Given the description of an element on the screen output the (x, y) to click on. 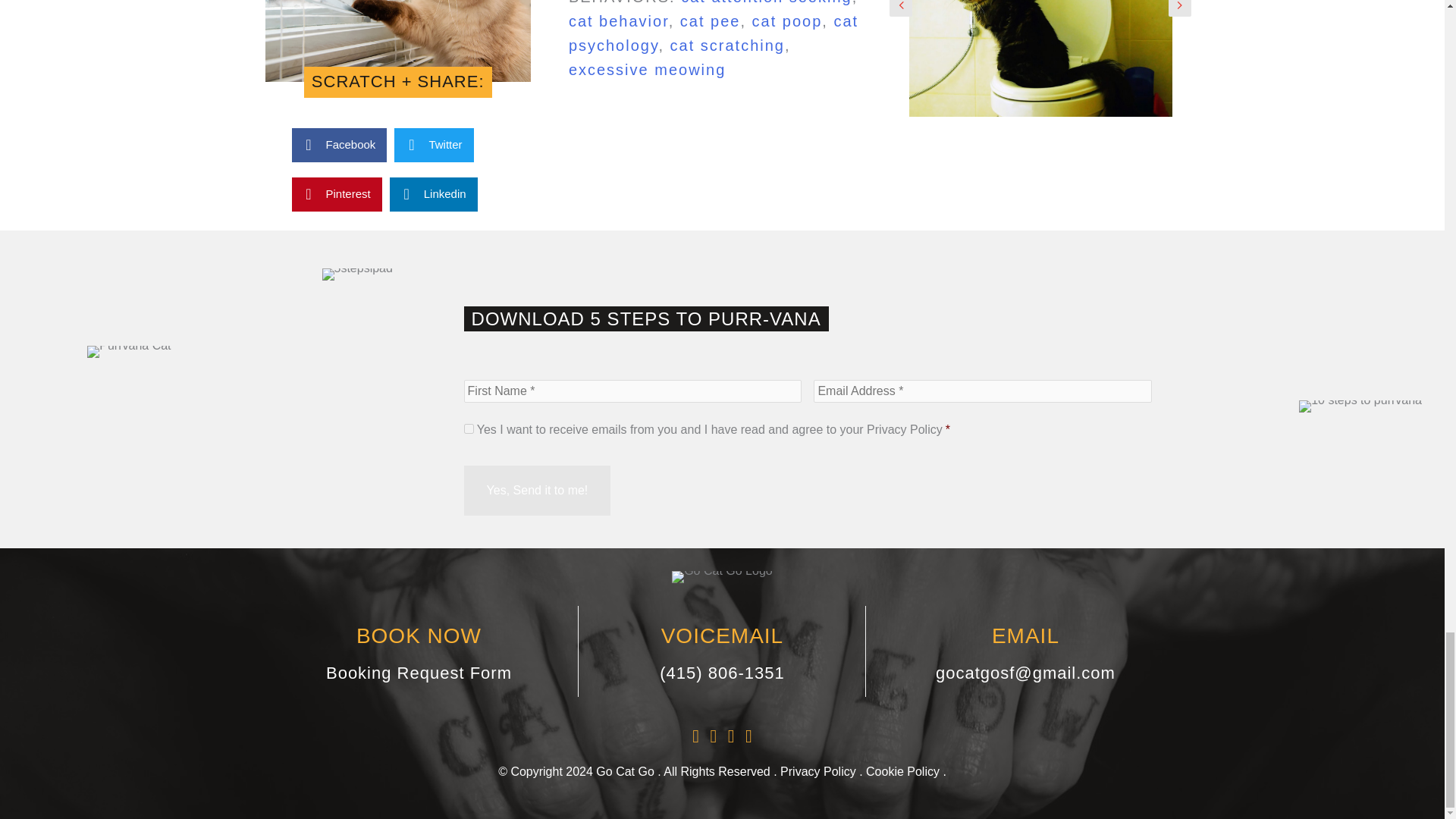
Twitter (433, 144)
people behaving badly (397, 40)
Yes, Send it to me! (537, 490)
cat attention seeking (766, 2)
Pinterest (336, 194)
Linkedin (433, 194)
cat scratching (726, 45)
cat psychology (714, 33)
cat poop (787, 21)
cat toilet (1040, 58)
